Given the description of an element on the screen output the (x, y) to click on. 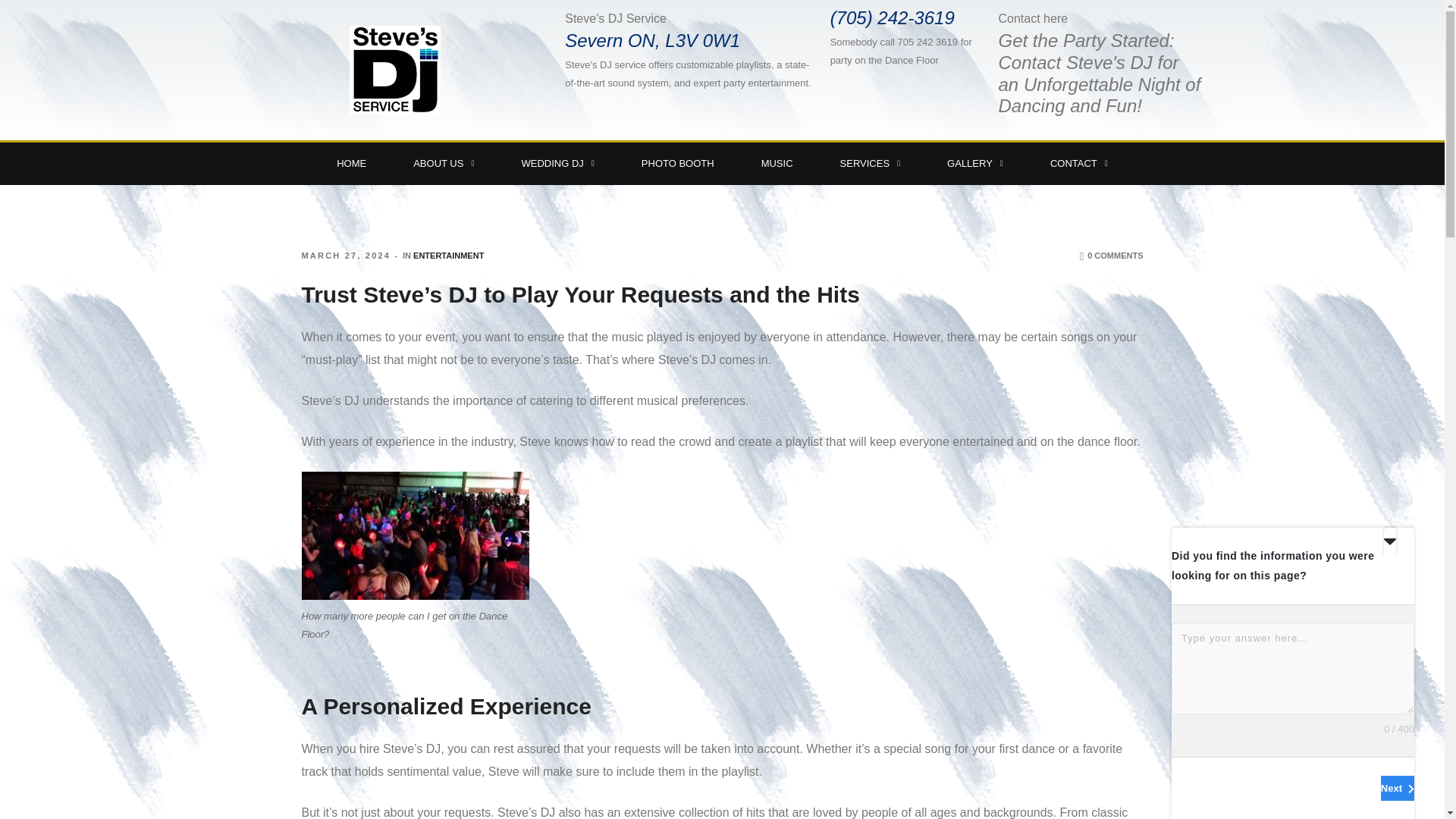
GALLERY (974, 163)
ABOUT US (443, 163)
MUSIC (777, 163)
HOME (351, 163)
CONTACT (1078, 163)
SERVICES (870, 163)
WEDDING DJ (557, 163)
PHOTO BOOTH (677, 163)
